Given the description of an element on the screen output the (x, y) to click on. 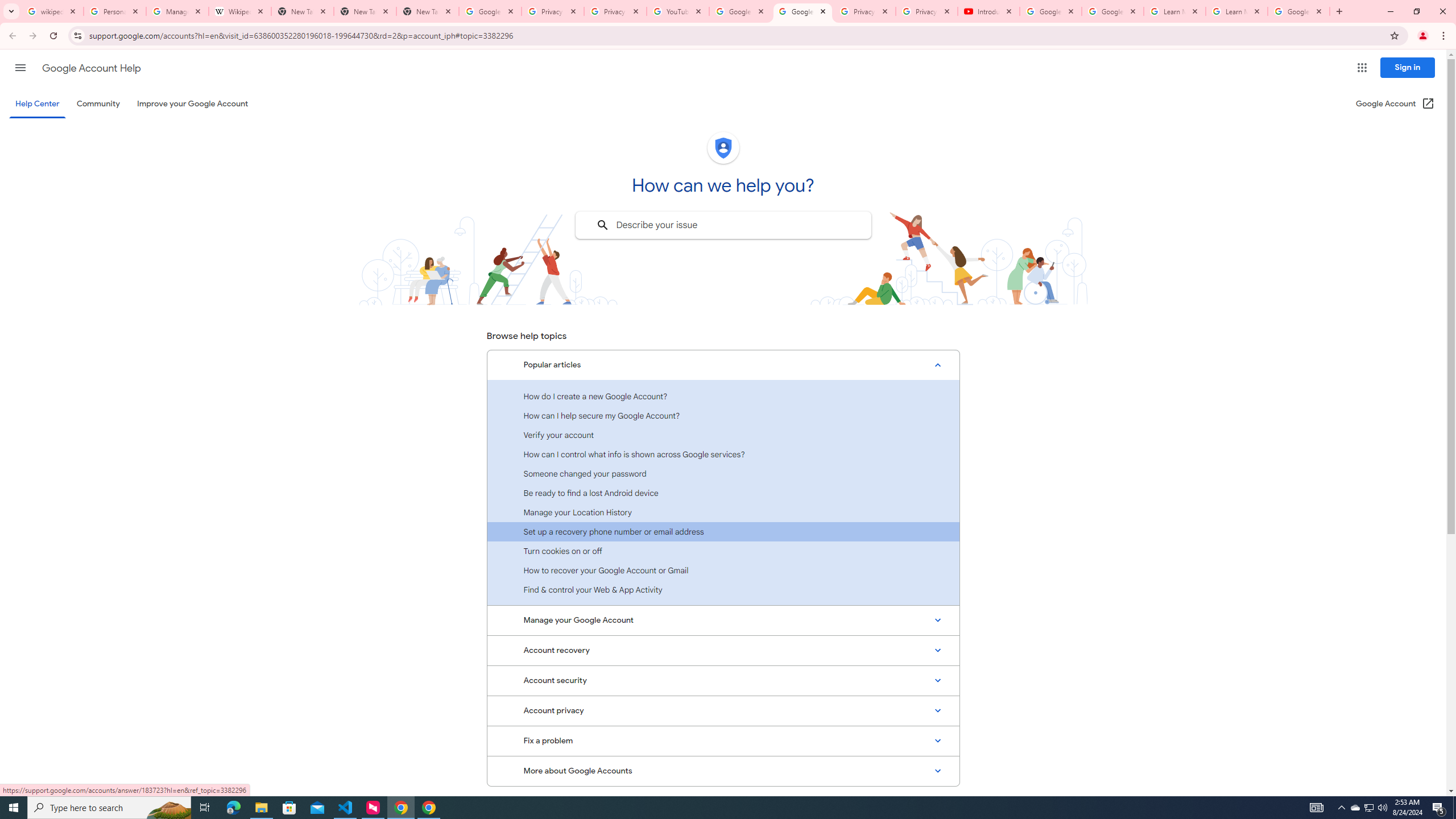
Account security (722, 680)
Verify your account (722, 434)
More about Google Accounts (722, 771)
Google Account Help (91, 68)
Popular articles, Expanded list with 11 items (722, 365)
Google Account (Open in a new window) (1395, 103)
Manage your Location History - Google Search Help (177, 11)
Account recovery (722, 650)
